Given the description of an element on the screen output the (x, y) to click on. 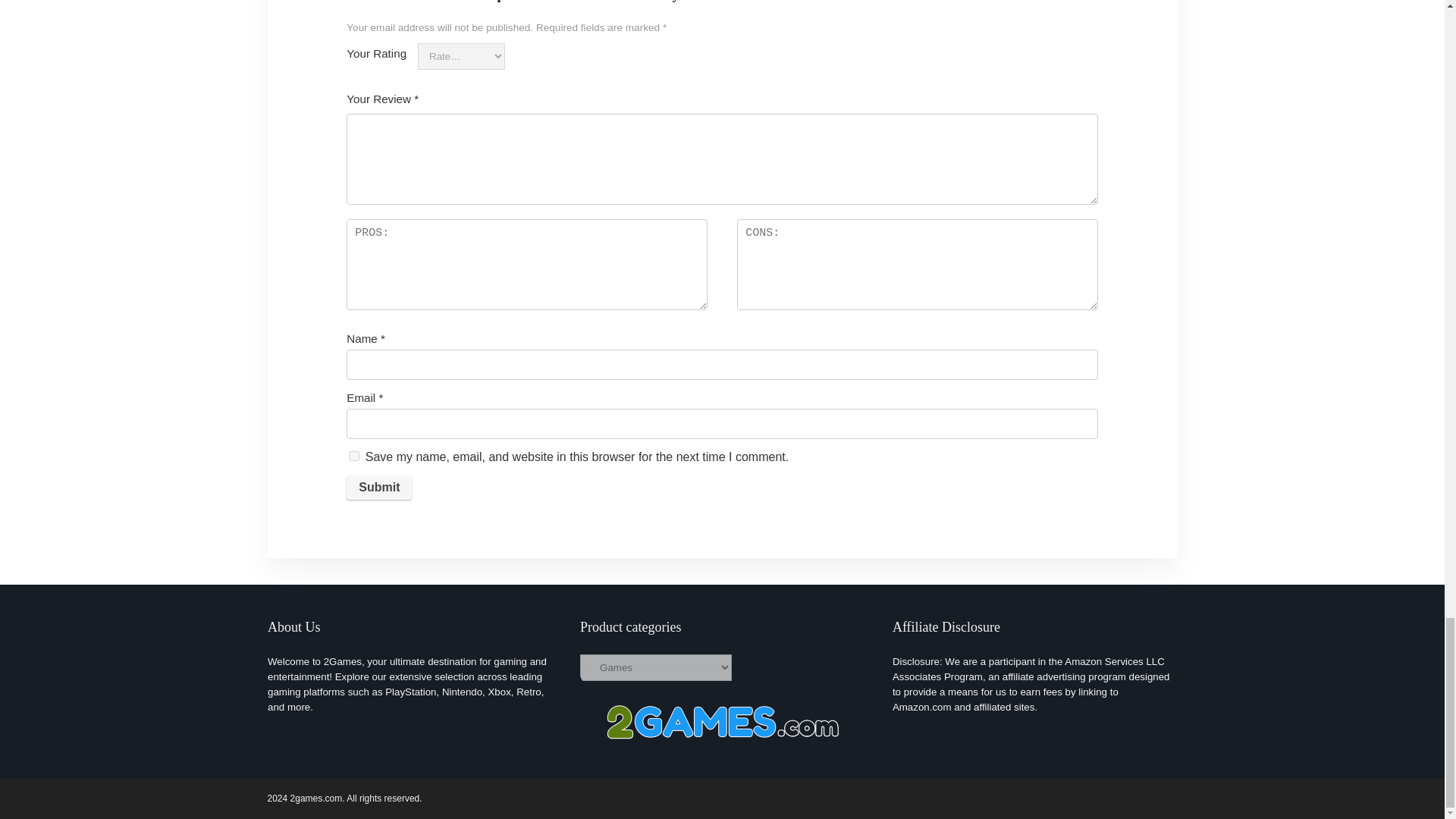
yes (354, 456)
Submit (379, 487)
